Given the description of an element on the screen output the (x, y) to click on. 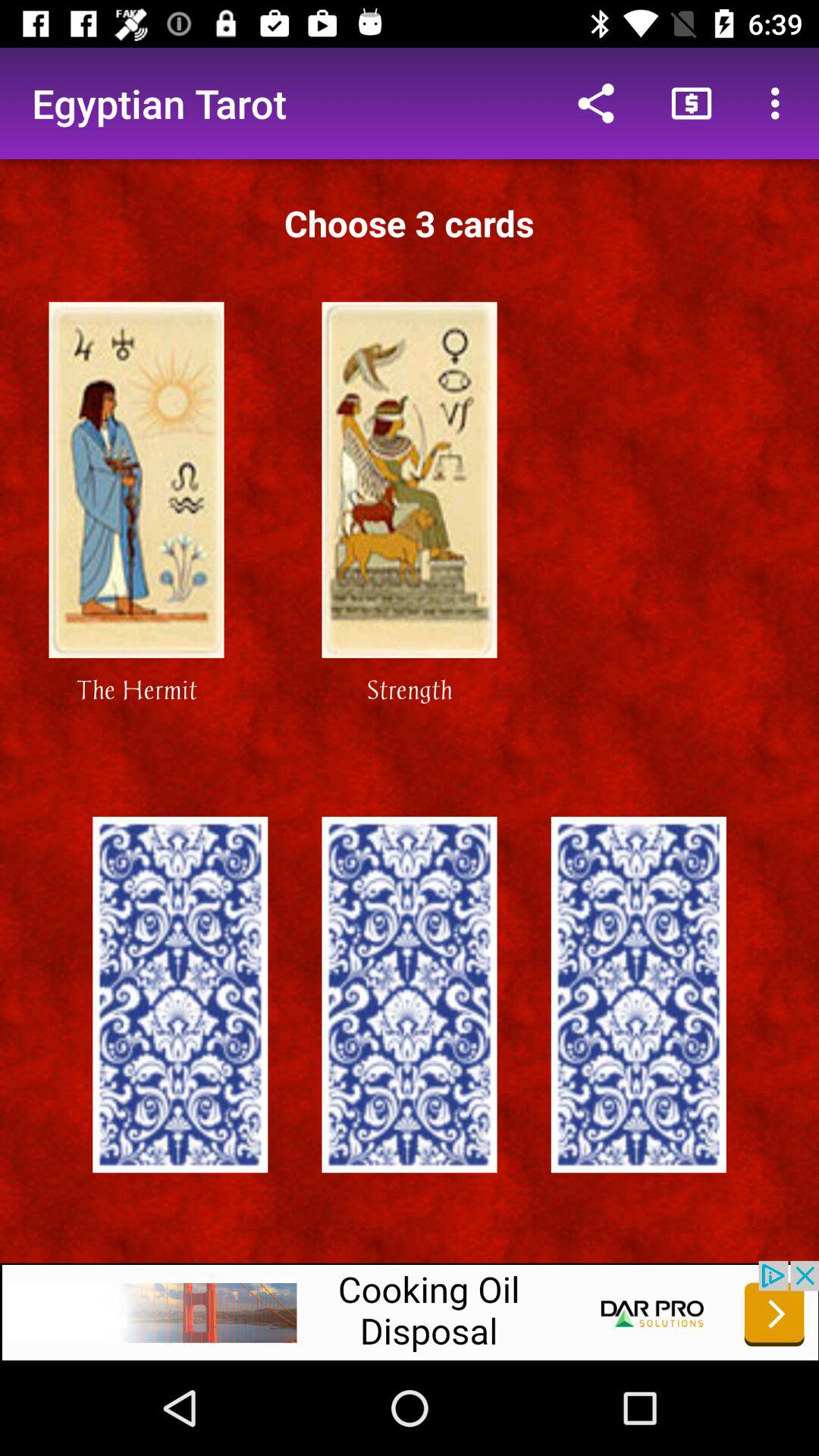
go to website (409, 1310)
